Given the description of an element on the screen output the (x, y) to click on. 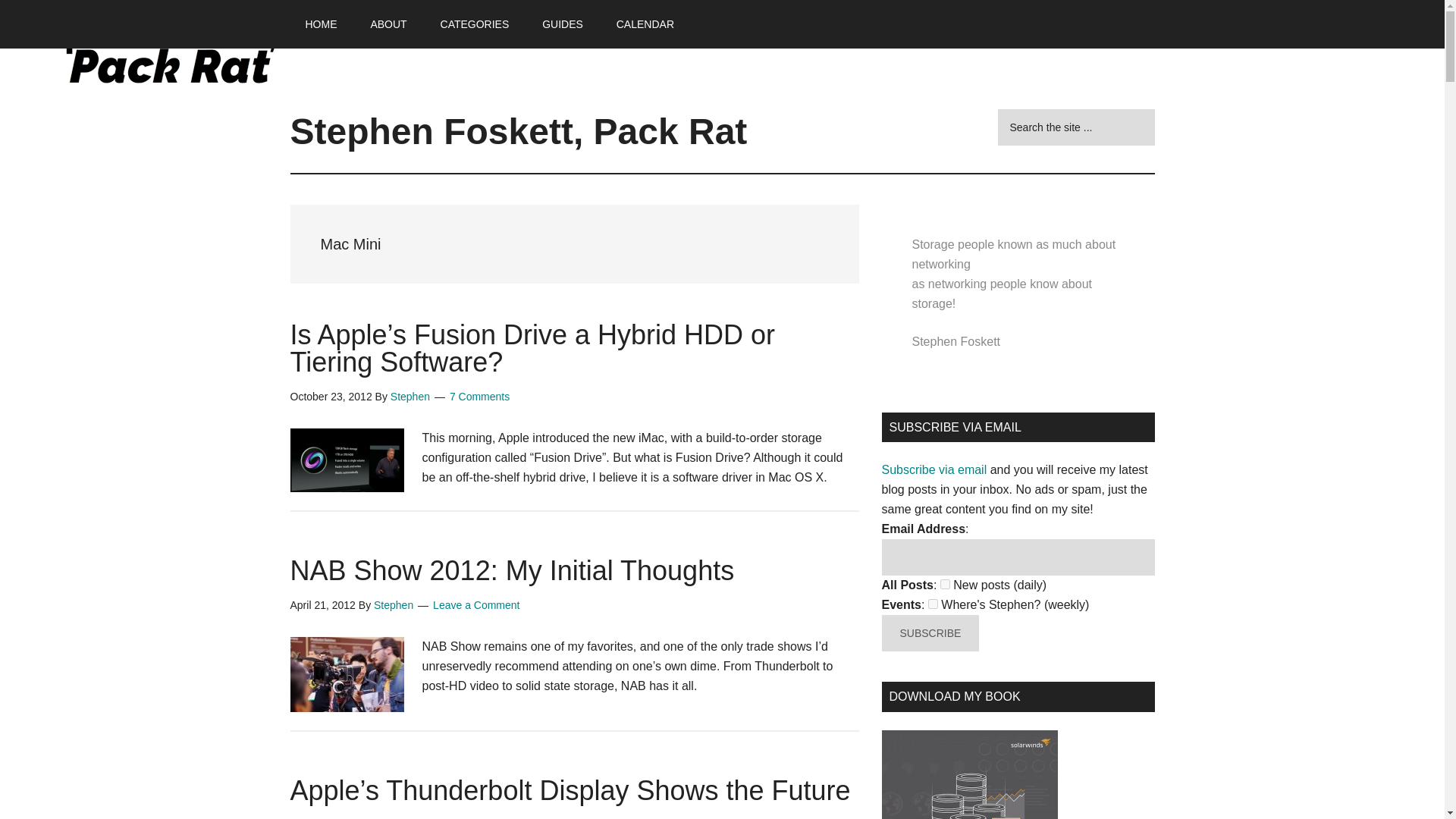
Mastodon (26, 9)
2 (932, 603)
ABOUT (388, 24)
1 (945, 583)
Subscribe (929, 633)
HOME (320, 24)
CATEGORIES (474, 24)
GUIDES (562, 24)
